Given the description of an element on the screen output the (x, y) to click on. 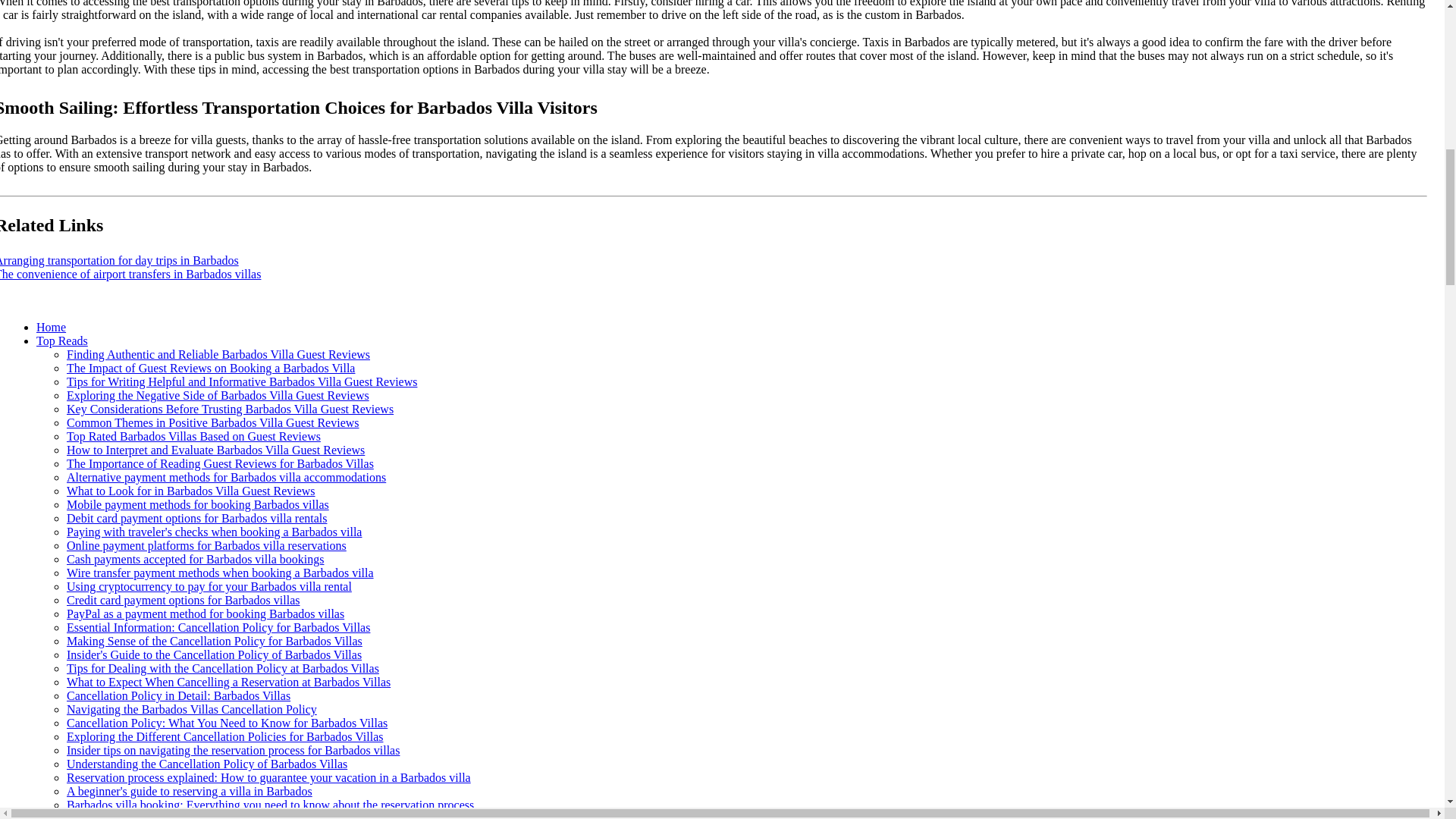
Using cryptocurrency to pay for your Barbados villa rental (209, 585)
Exploring the Negative Side of Barbados Villa Guest Reviews (217, 395)
Debit card payment options for Barbados villa rentals (196, 517)
Credit card payment options for Barbados villas (182, 599)
Paying with traveler's checks when booking a Barbados villa (213, 531)
Finding Authentic and Reliable Barbados Villa Guest Reviews (217, 354)
What to Look for in Barbados Villa Guest Reviews (190, 490)
